Given the description of an element on the screen output the (x, y) to click on. 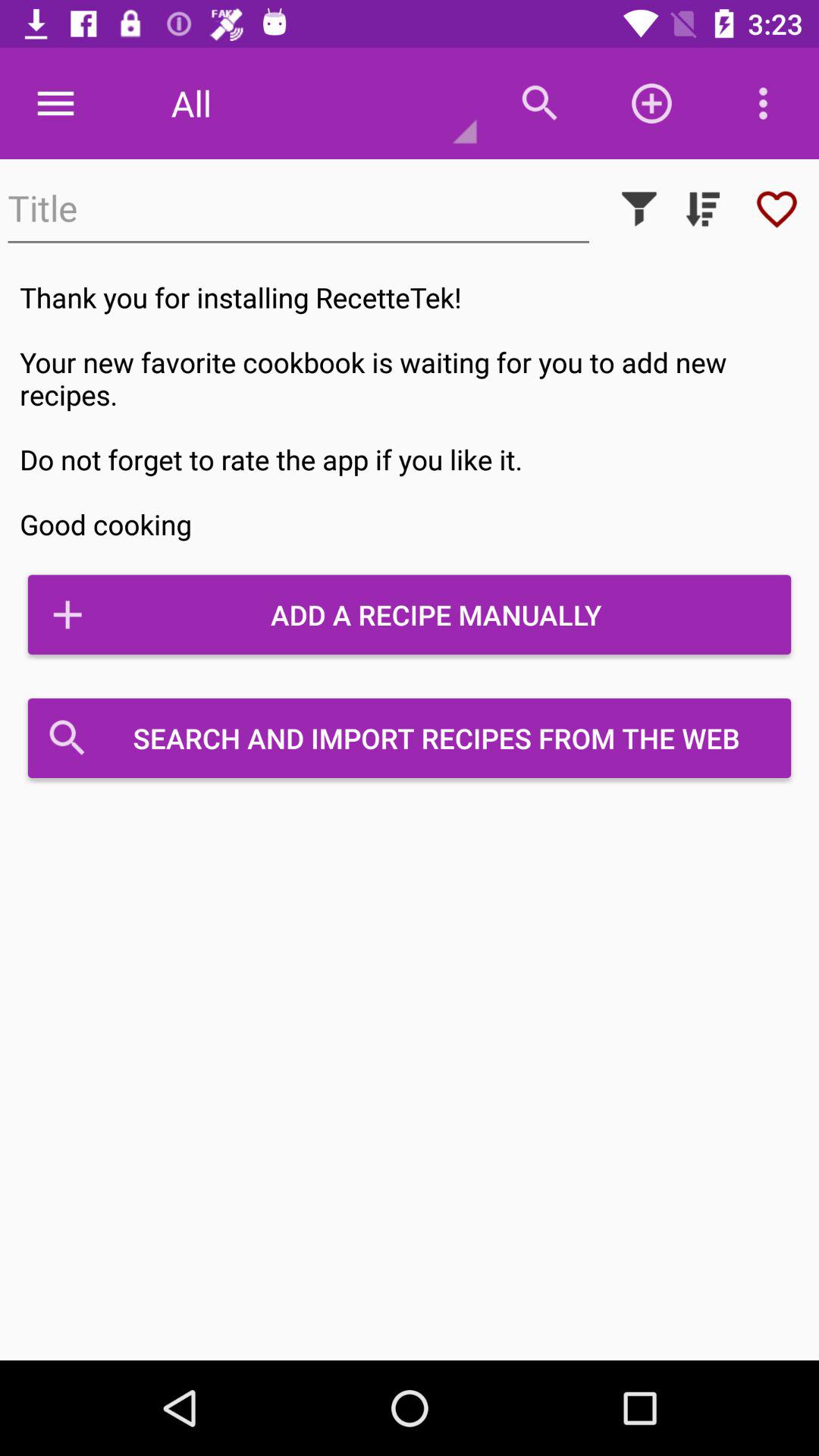
search for a recipe (298, 208)
